Given the description of an element on the screen output the (x, y) to click on. 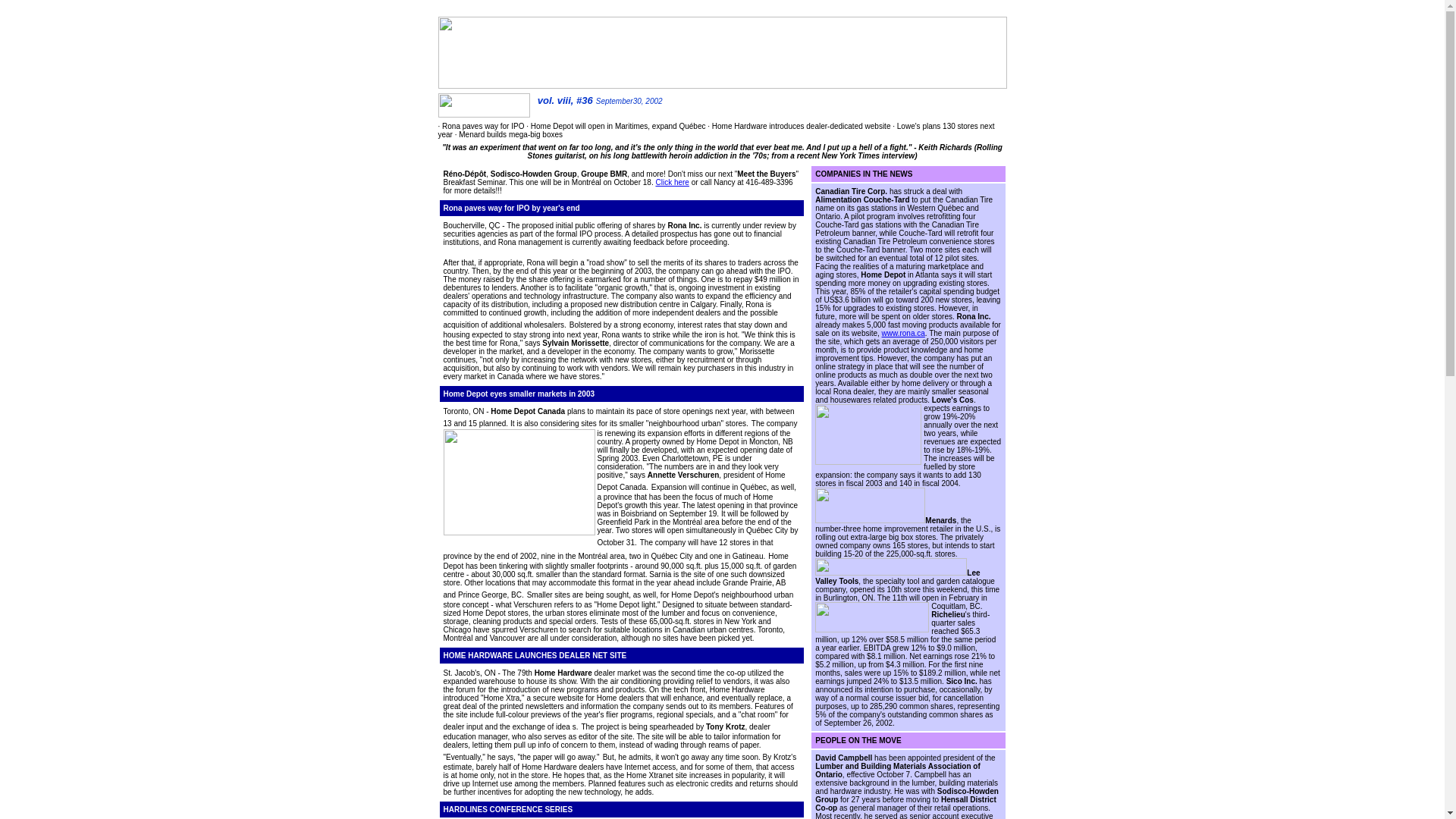
www.rona.ca (903, 333)
Click here (671, 182)
